Given the description of an element on the screen output the (x, y) to click on. 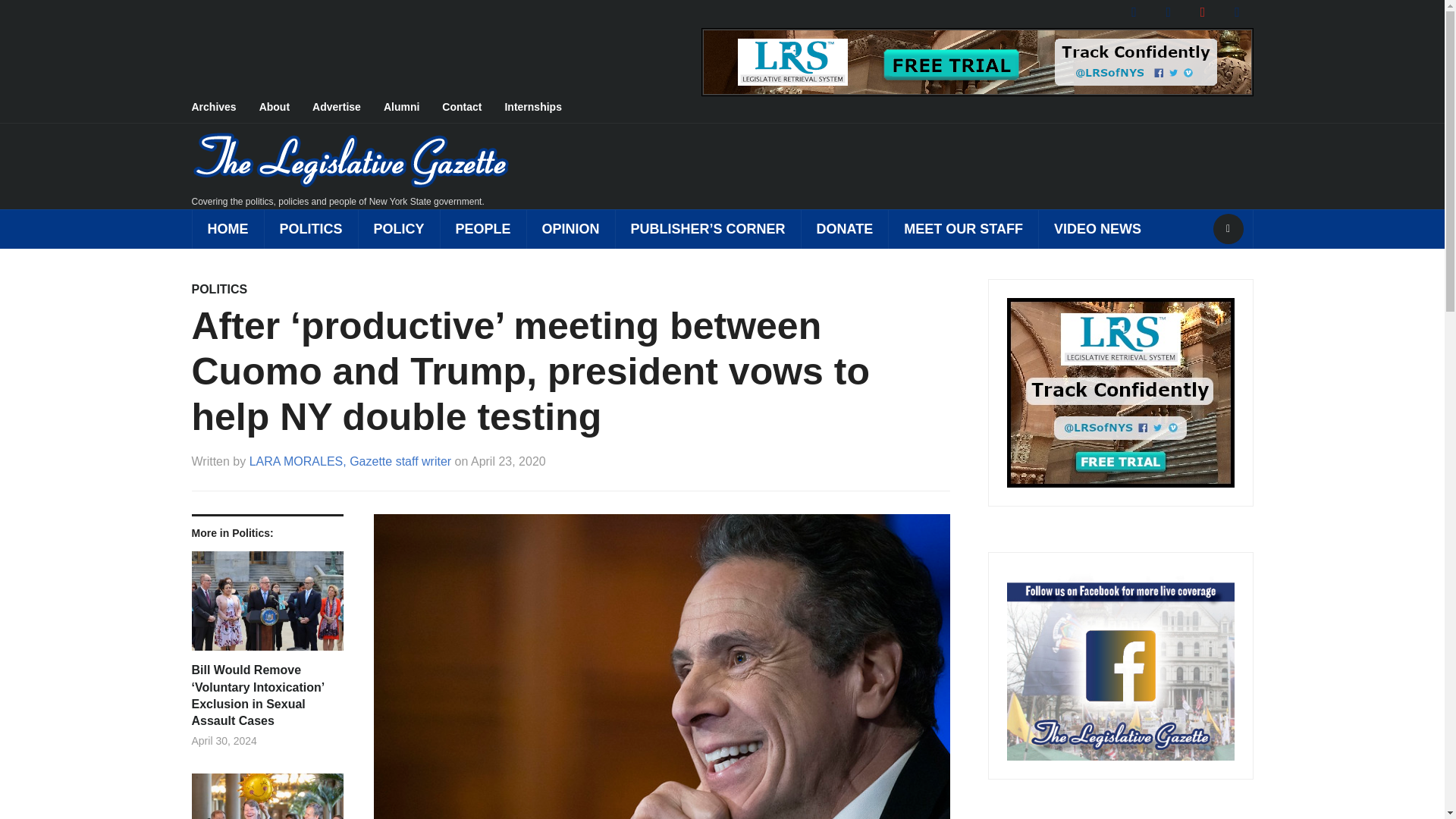
Advertise (348, 107)
Follow Me (1168, 10)
HOME (226, 228)
Contact (472, 107)
Search (1227, 228)
Archives (224, 107)
POLITICS (310, 228)
Friend me on Facebook (1134, 10)
OPINION (569, 228)
PEOPLE (482, 228)
Alumni (413, 107)
About (286, 107)
Default Label (1236, 10)
Internships (543, 107)
